Given the description of an element on the screen output the (x, y) to click on. 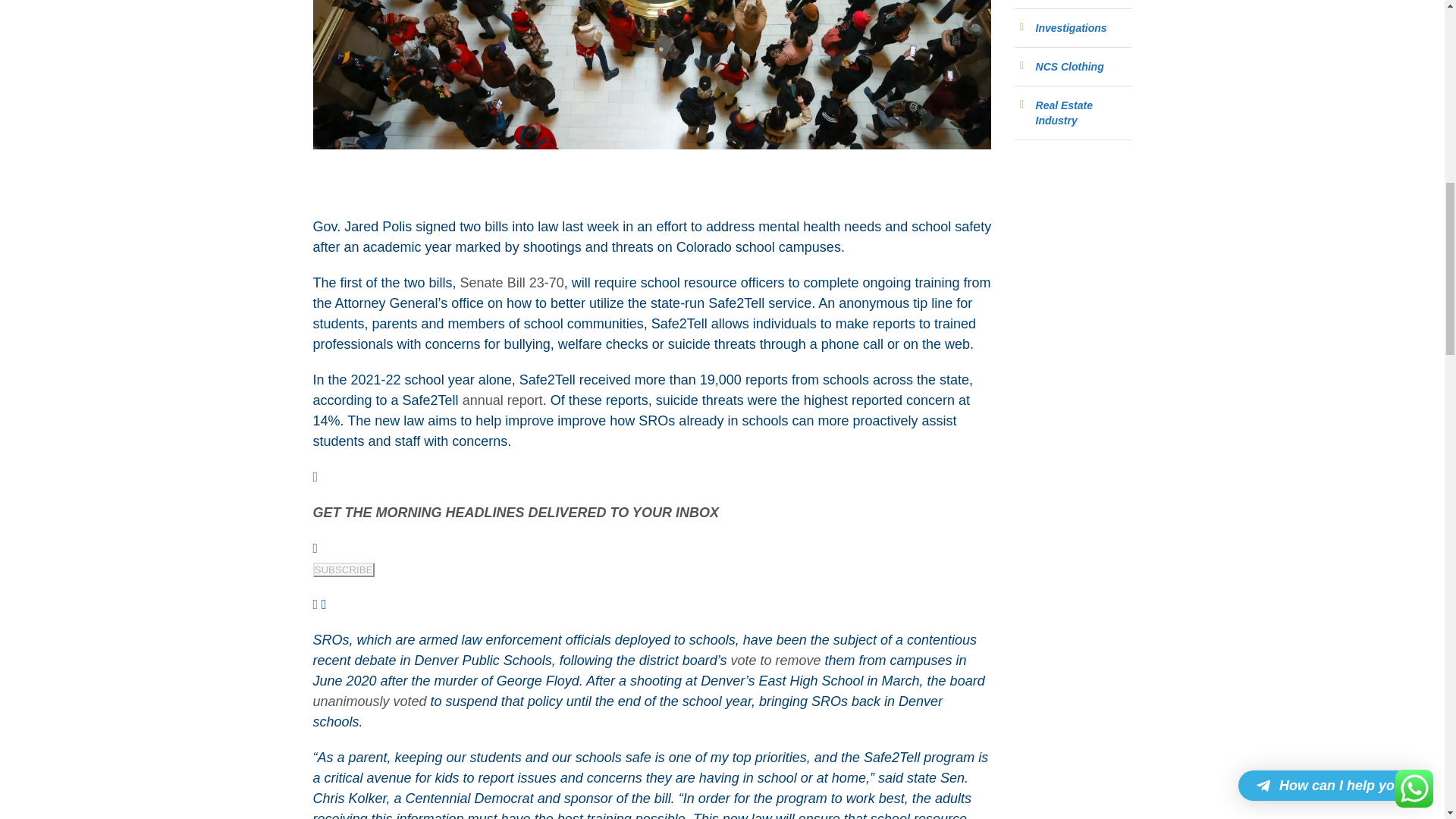
GUN-VIOLENCE-PROTEST-1265.jpg (652, 74)
